Given the description of an element on the screen output the (x, y) to click on. 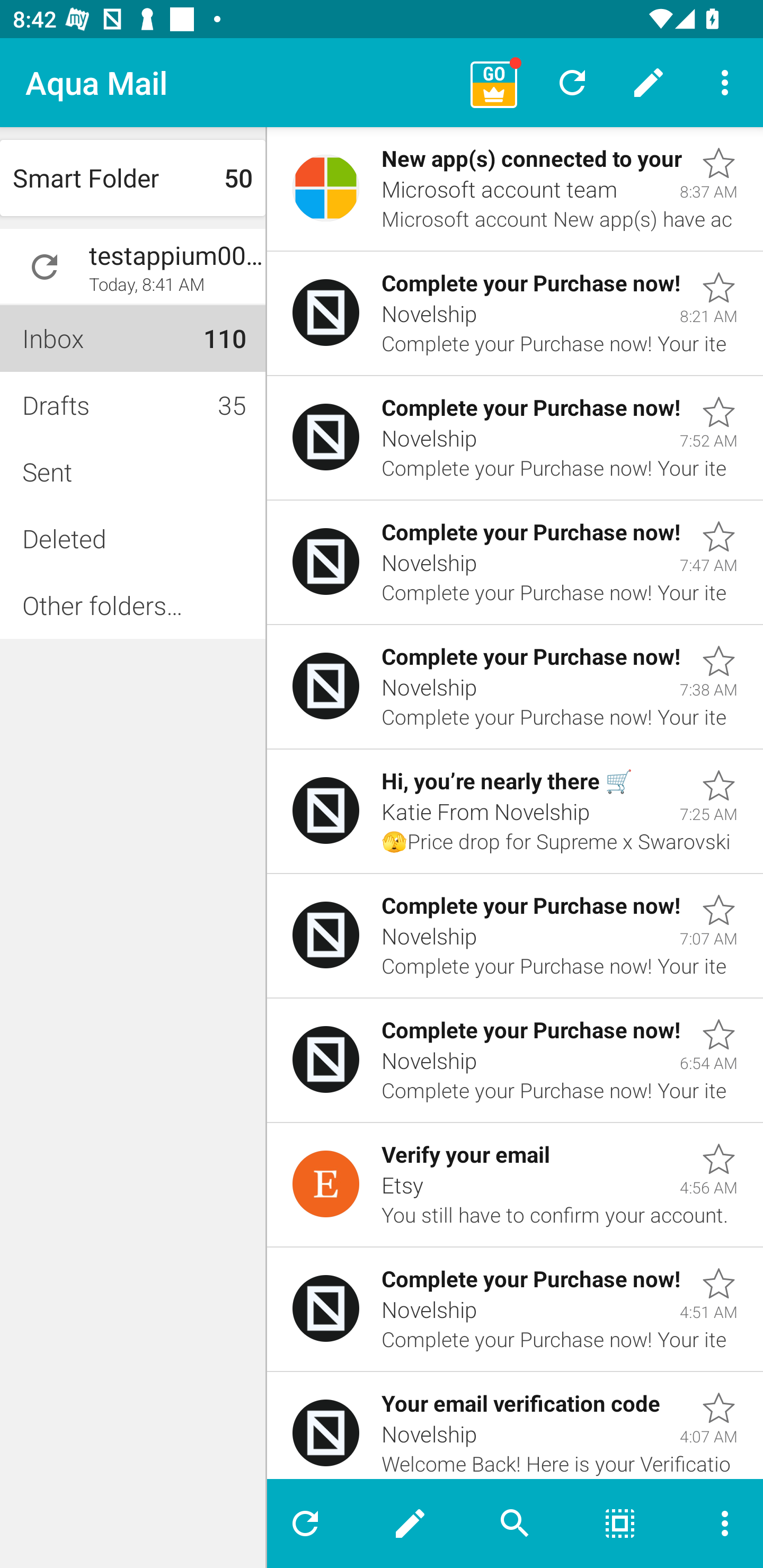
Refresh all (572, 82)
New message (648, 82)
More options (724, 81)
Smart Folder 50 50 unread, 50 total messages (132, 177)
Refresh account (44, 266)
Sent Folder: Sent 24 total messages (132, 471)
Deleted Folder: Deleted 0 total messages (132, 538)
Other folders… (132, 605)
Refresh (312, 1523)
New message (409, 1523)
Search (514, 1523)
Select all (619, 1523)
More options (717, 1522)
